Given the description of an element on the screen output the (x, y) to click on. 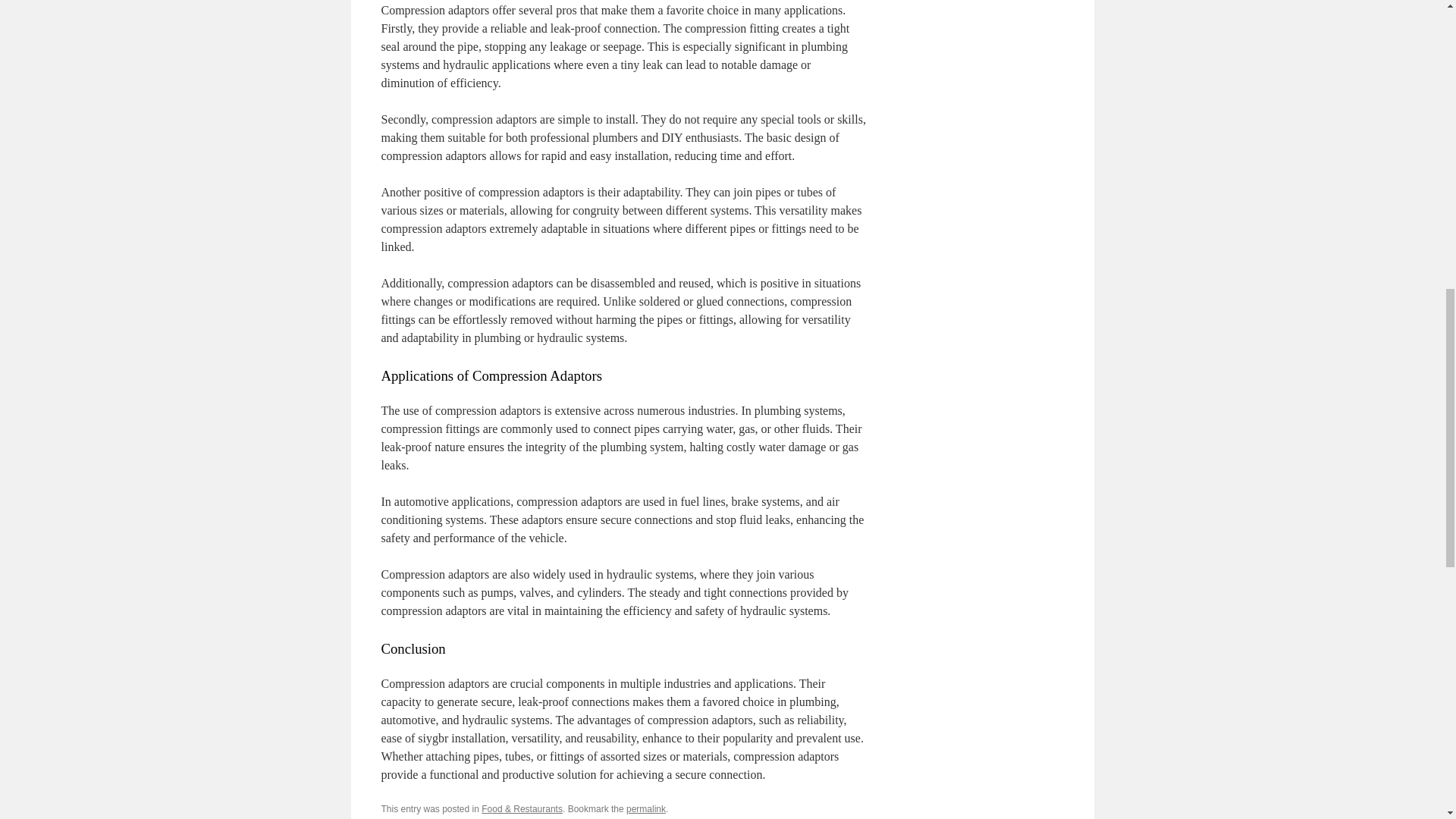
permalink (645, 808)
